Given the description of an element on the screen output the (x, y) to click on. 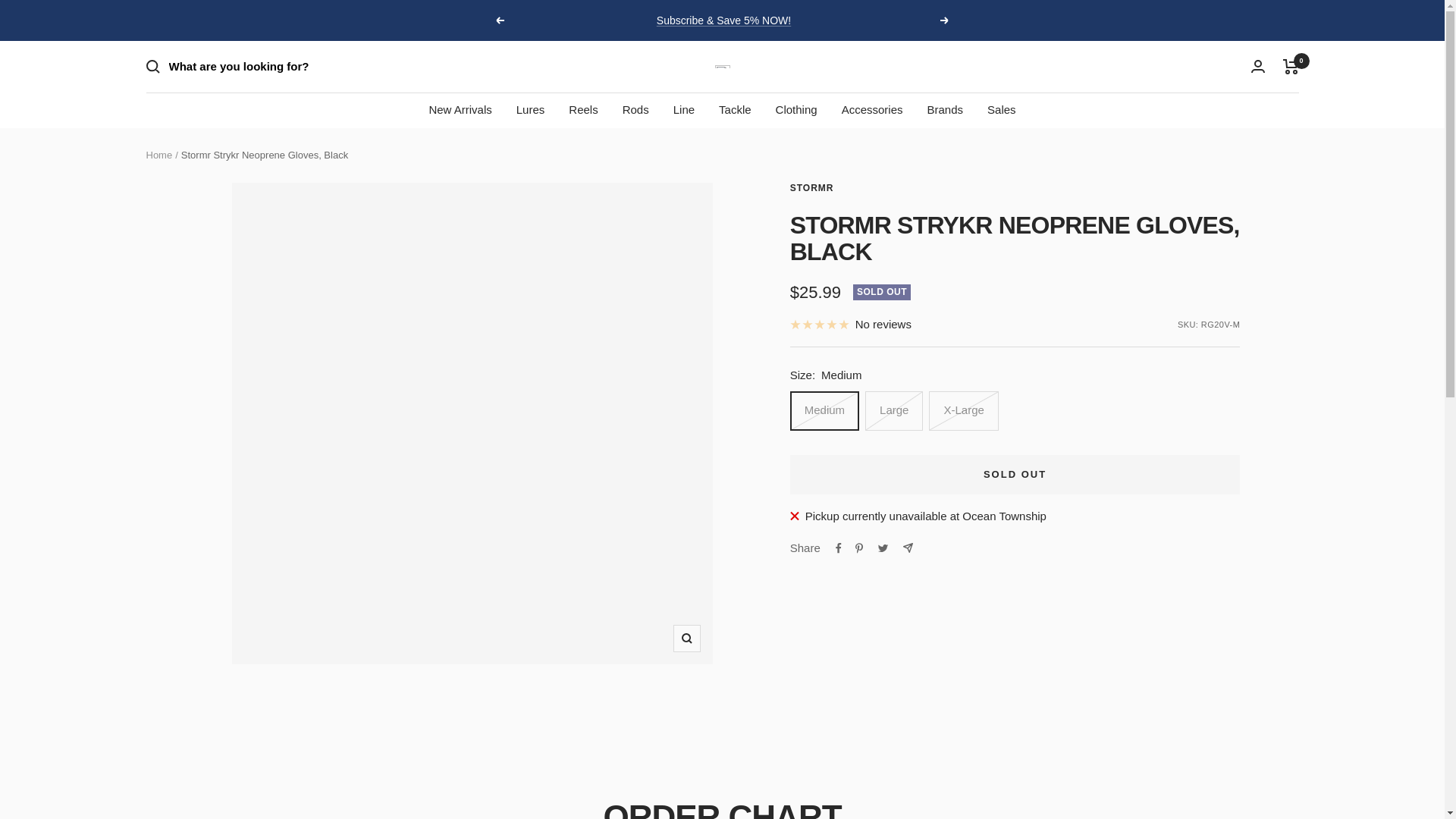
Reels (582, 109)
0 (1290, 66)
Tackle (735, 109)
Accessories (871, 109)
Brands (944, 109)
New Arrivals (460, 109)
Line (683, 109)
Next (944, 20)
SOLD OUT (1015, 474)
